Given the description of an element on the screen output the (x, y) to click on. 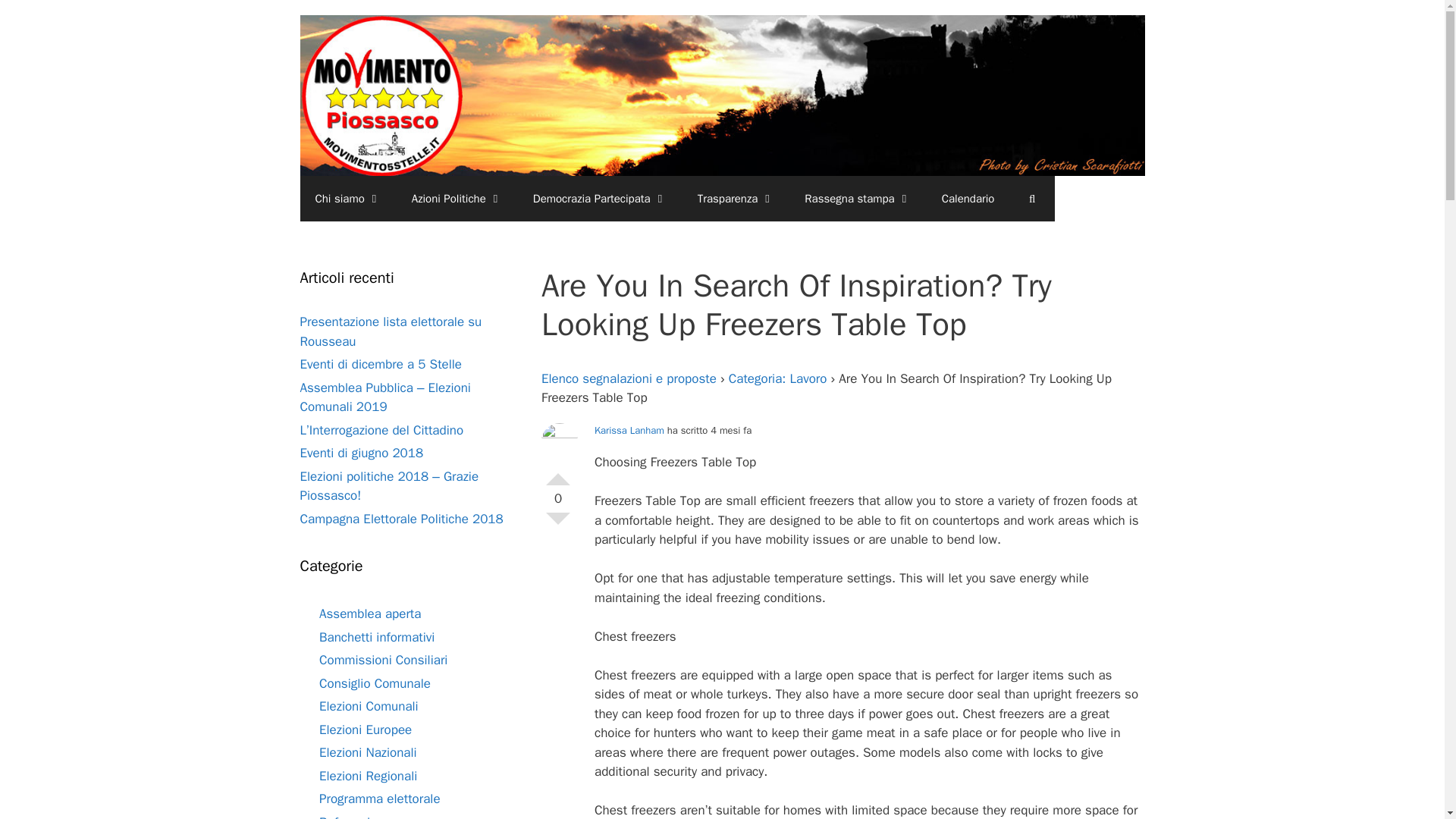
Elenco segnalazioni e proposte (628, 378)
Democrazia Partecipata (600, 198)
Karissa Lanham (628, 430)
Dai un voto positivo (558, 473)
Dai un voto negativo (558, 524)
Categoria: Lavoro (778, 378)
Calendario (968, 198)
Trasparenza (736, 198)
Chi siamo (347, 198)
Rassegna stampa (857, 198)
Presentazione lista elettorale su Rousseau (390, 331)
Azioni Politiche (457, 198)
